Given the description of an element on the screen output the (x, y) to click on. 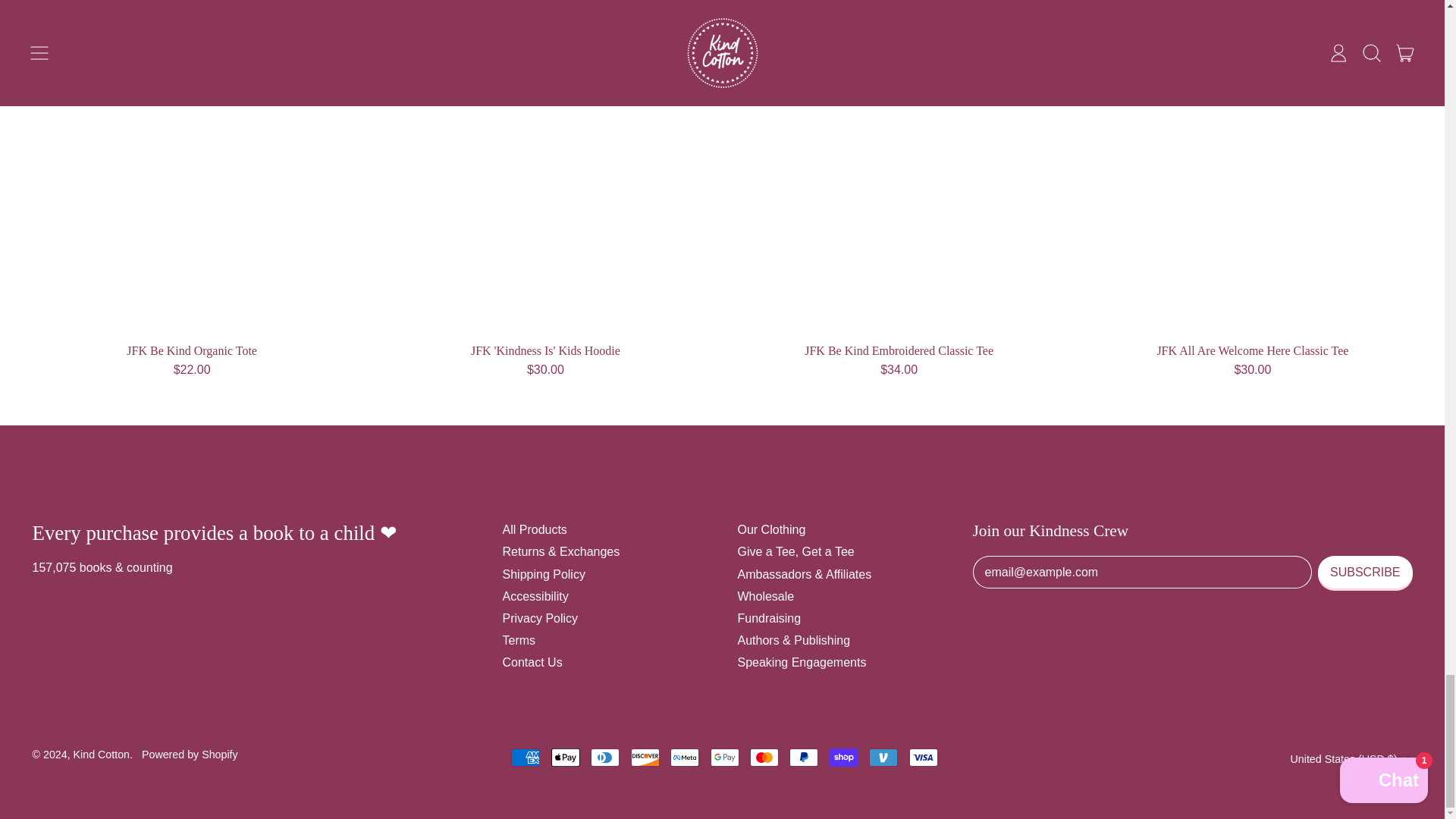
Accessibility (534, 595)
Privacy Policy (540, 617)
Shipping Policy (543, 574)
All Products (534, 529)
Terms (518, 640)
Wholesale (764, 595)
Give a Tee, Get a Tee (794, 551)
Contact Us (532, 662)
Our Clothing (770, 529)
Fundraising (768, 617)
